Given the description of an element on the screen output the (x, y) to click on. 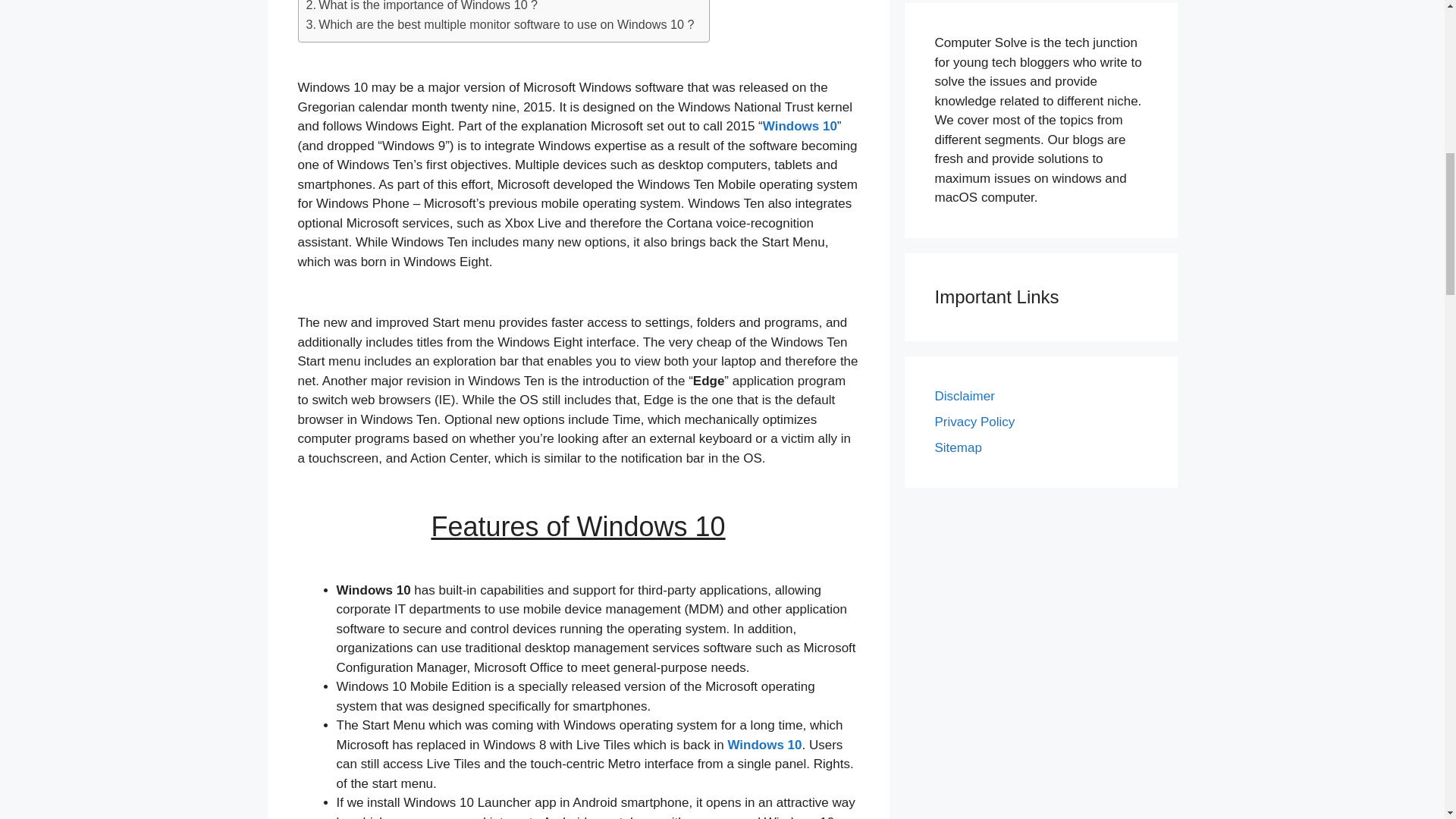
What is the importance of Windows 10 ? (421, 7)
Windows 10 (799, 125)
Windows 10 (764, 744)
What is the importance of Windows 10 ? (421, 7)
